Given the description of an element on the screen output the (x, y) to click on. 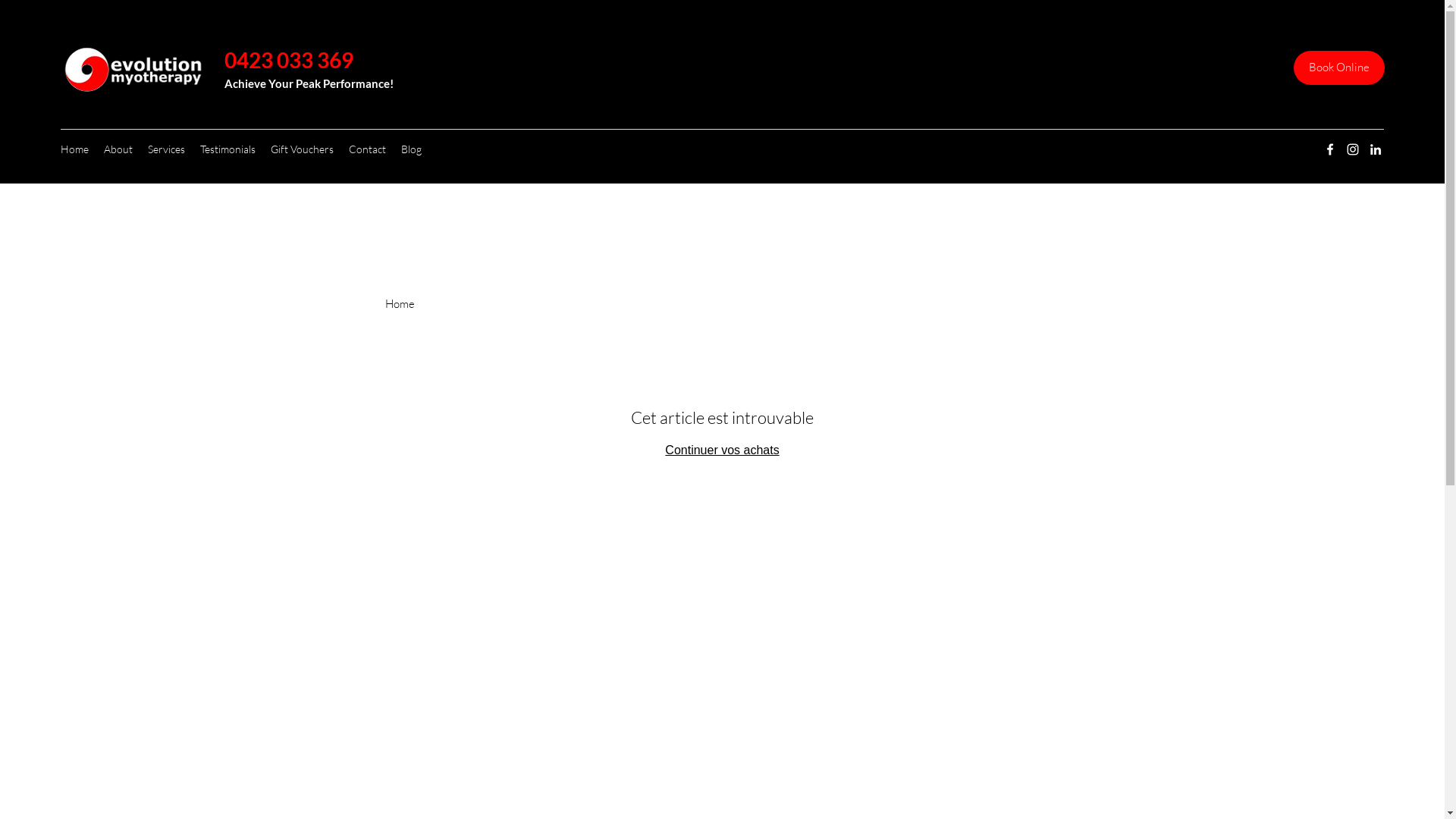
Home Element type: text (74, 149)
Book Online Element type: text (1338, 67)
Home Element type: text (399, 303)
Testimonials Element type: text (227, 149)
About Element type: text (118, 149)
Gift Vouchers Element type: text (302, 149)
Blog Element type: text (411, 149)
Contact Element type: text (367, 149)
Continuer vos achats Element type: text (721, 449)
Services Element type: text (166, 149)
